Given the description of an element on the screen output the (x, y) to click on. 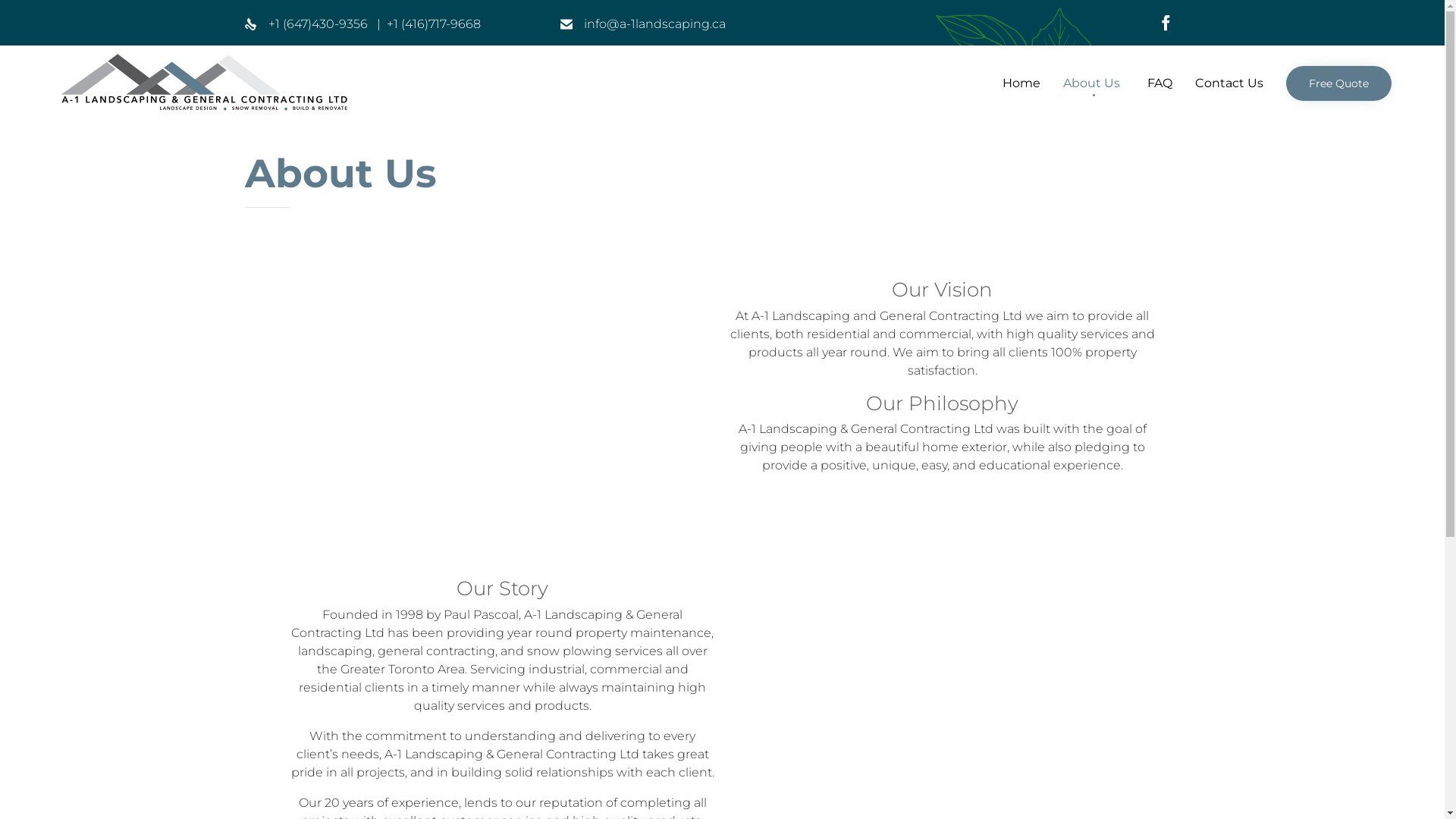
Contact Us Element type: text (1228, 83)
Skip to content Element type: text (1274, 63)
About Us Element type: text (1093, 83)
A-1 Landscaping and General Contracting LTD Element type: hover (204, 83)
info@a-1landscaping.ca Element type: text (654, 24)
Free Quote Element type: text (1338, 82)
FAQ Element type: text (1159, 83)
Home Element type: text (1021, 83)
